Given the description of an element on the screen output the (x, y) to click on. 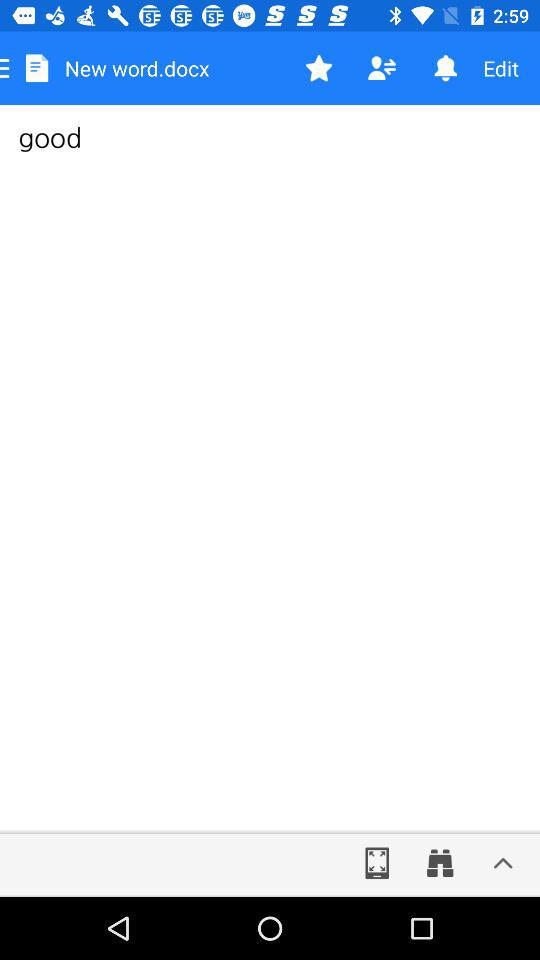
favorite option (318, 68)
